Given the description of an element on the screen output the (x, y) to click on. 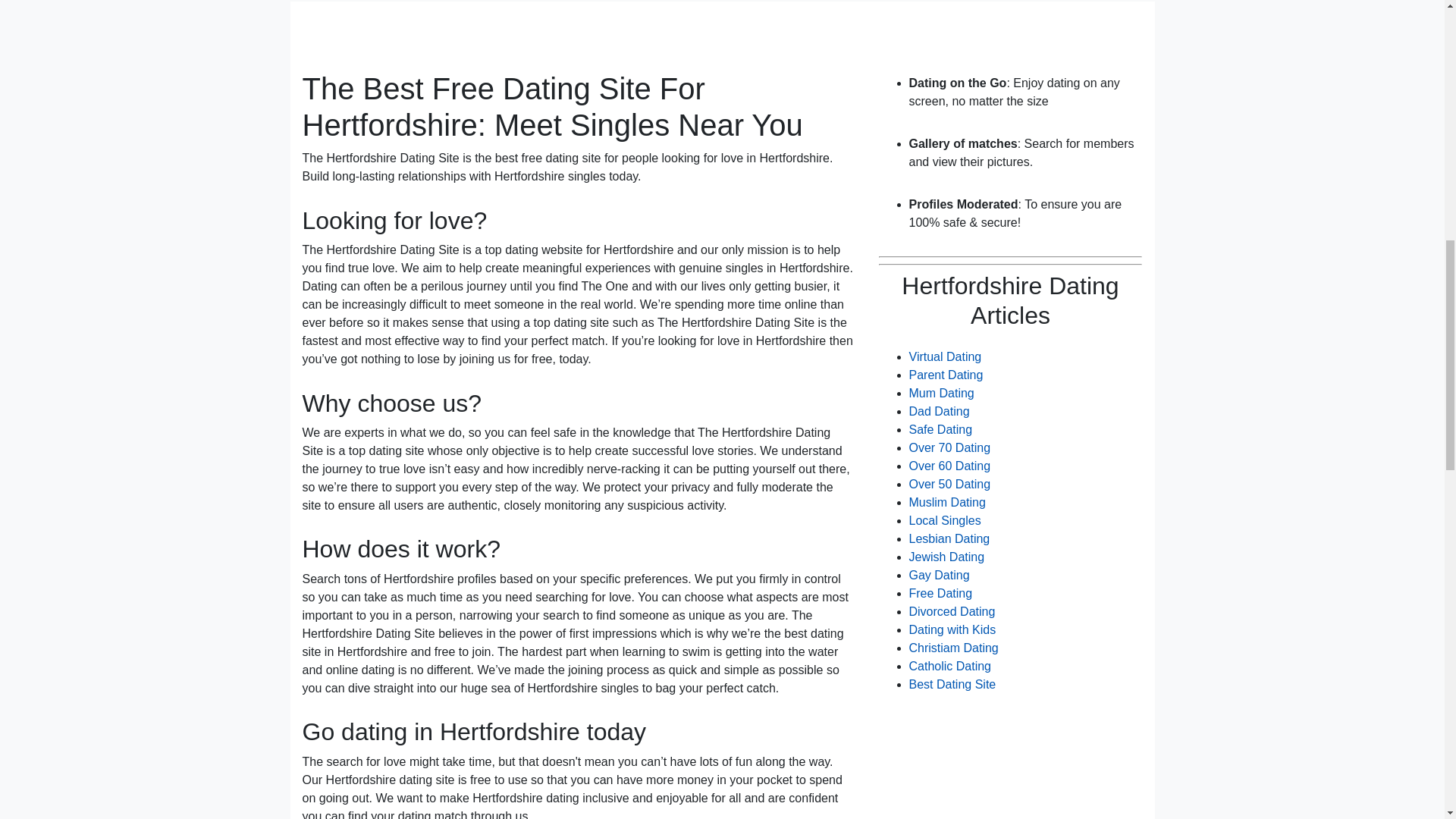
Hertfordshire Dating with Kids (951, 629)
Free Dating (940, 593)
Lesbian Dating (949, 538)
Mum Dating (941, 392)
Over 50 Dating (949, 483)
Hertfordshire Mum Dating (941, 392)
Hertfordshire Virtual Dating (944, 356)
Hertfordshire Jewish Dating (946, 556)
Safe Dating (940, 429)
Gay Dating (938, 574)
